Given the description of an element on the screen output the (x, y) to click on. 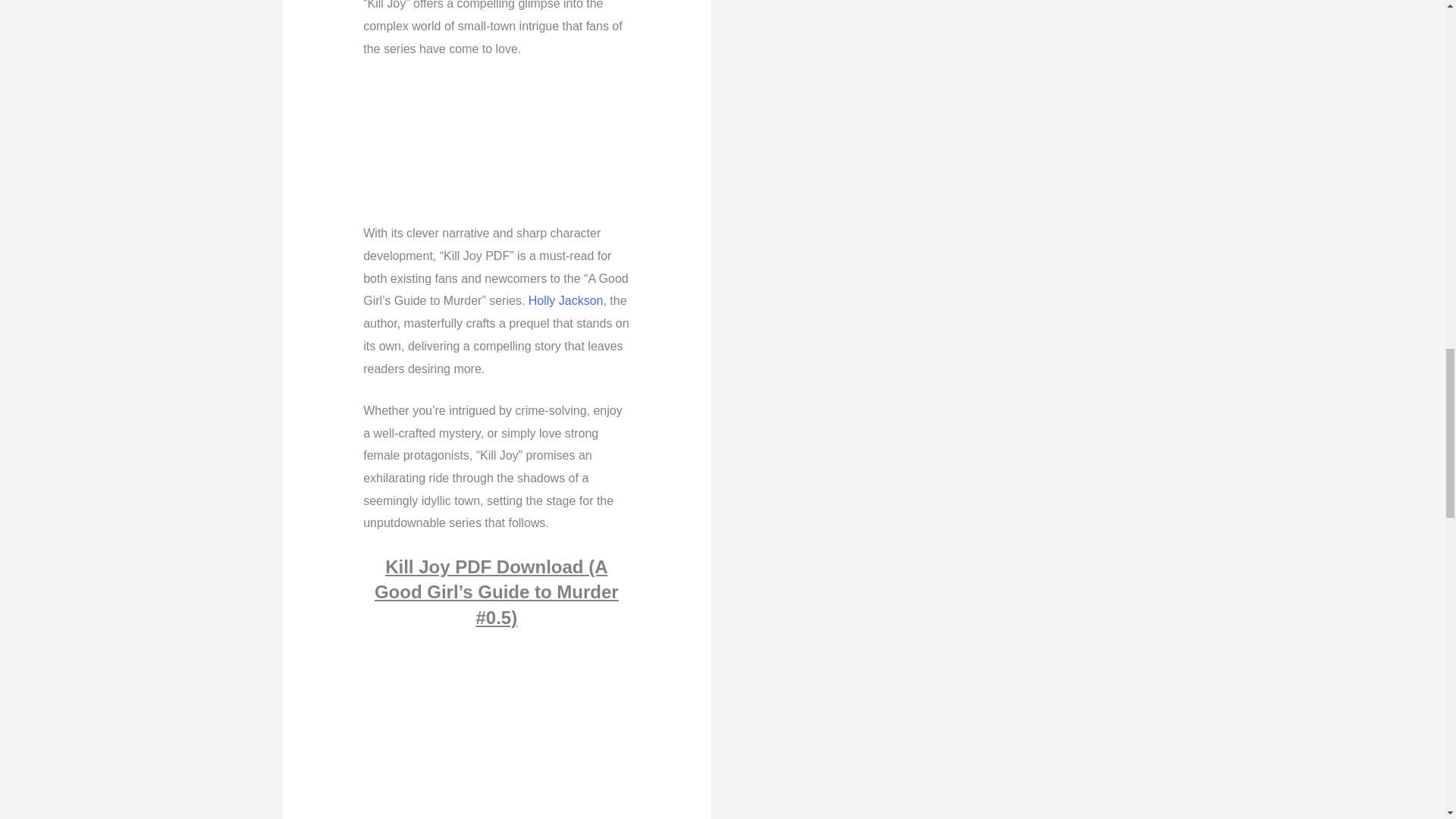
Holly Jackson (566, 300)
Kill Joy PDF AddictBooks (495, 736)
